Given the description of an element on the screen output the (x, y) to click on. 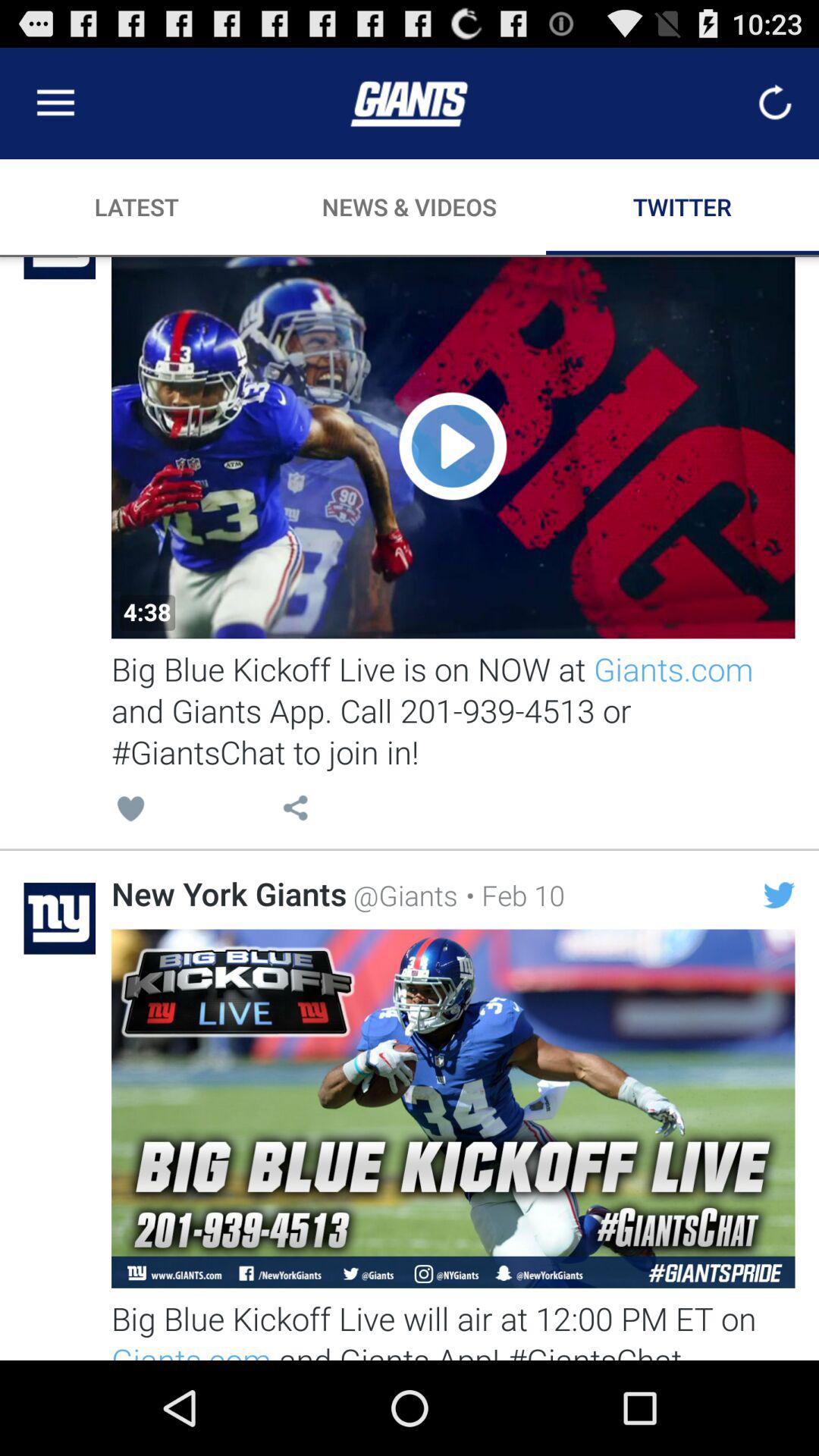
play video (453, 447)
